Given the description of an element on the screen output the (x, y) to click on. 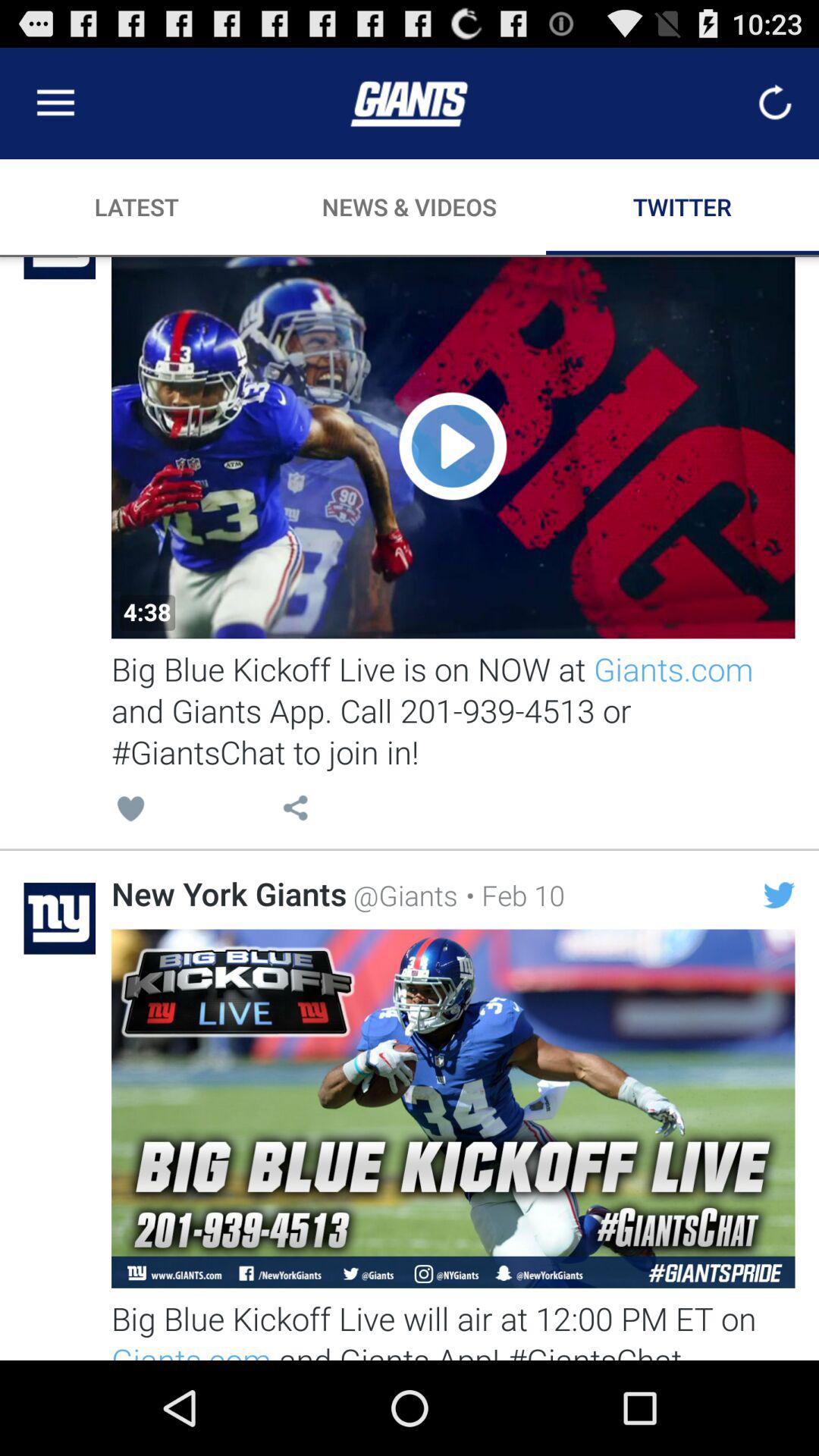
play video (453, 447)
